Given the description of an element on the screen output the (x, y) to click on. 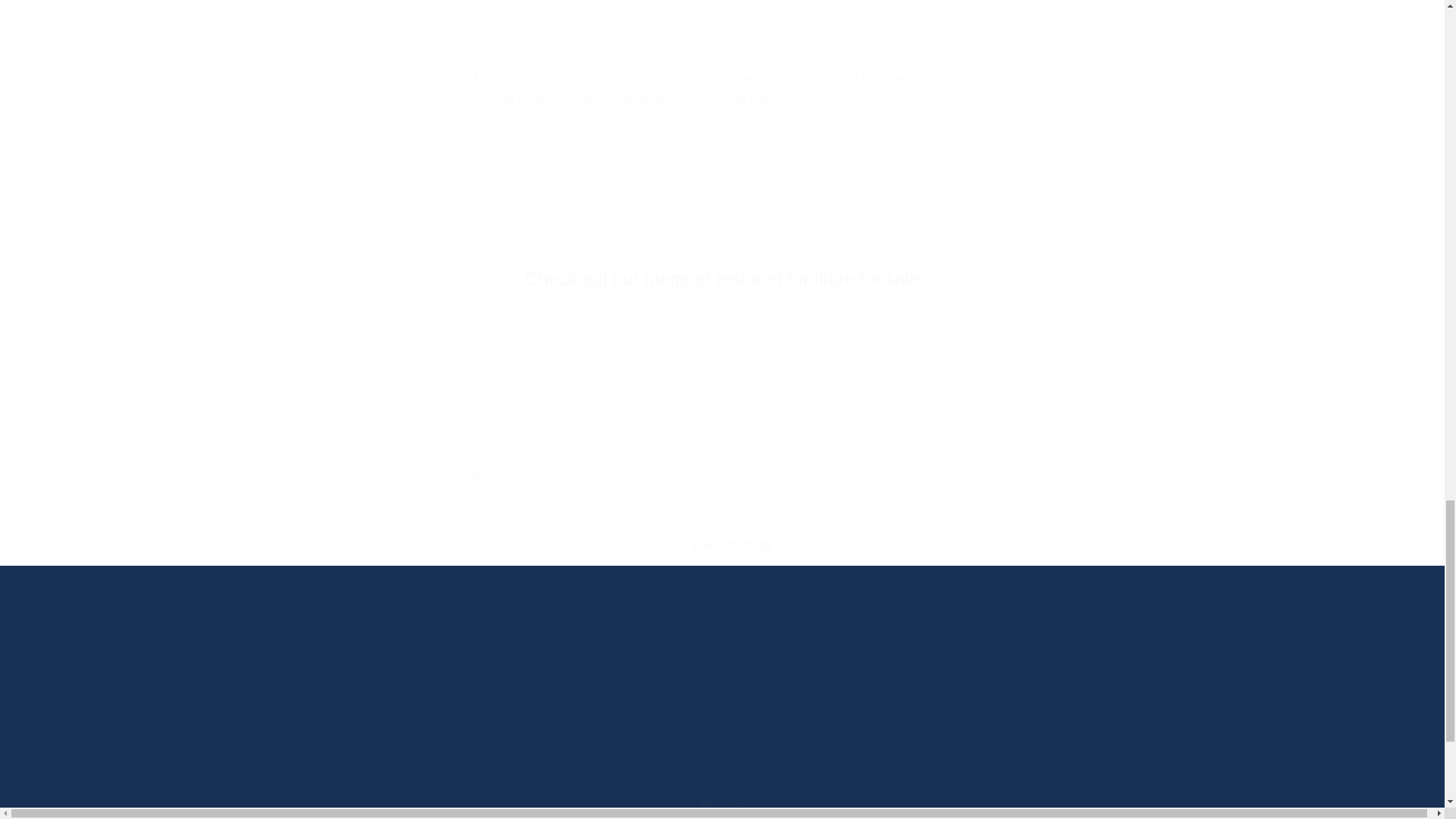
Share (721, 477)
Back to blog (722, 544)
